Given the description of an element on the screen output the (x, y) to click on. 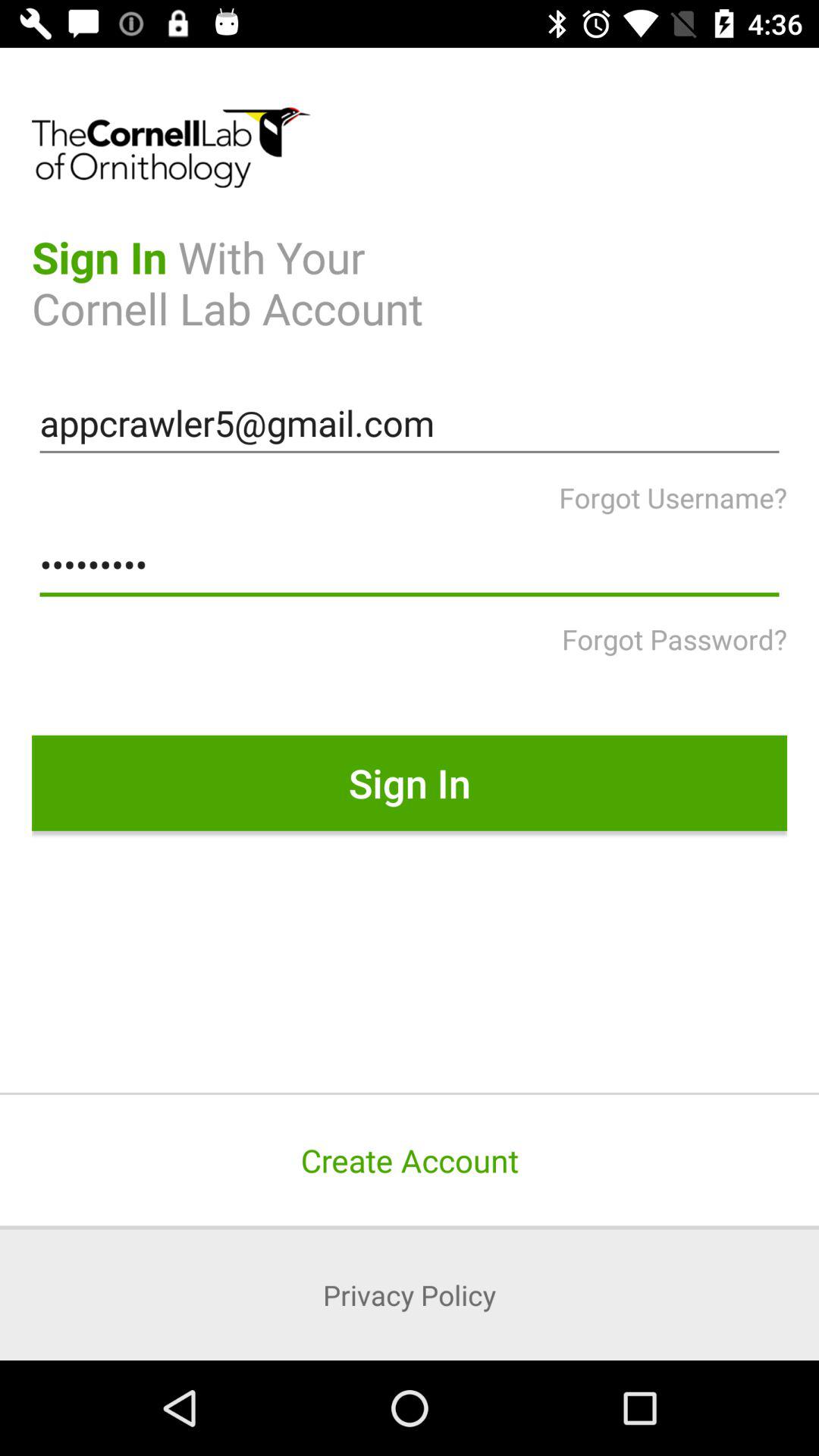
turn off the icon below the sign in with (409, 423)
